Given the description of an element on the screen output the (x, y) to click on. 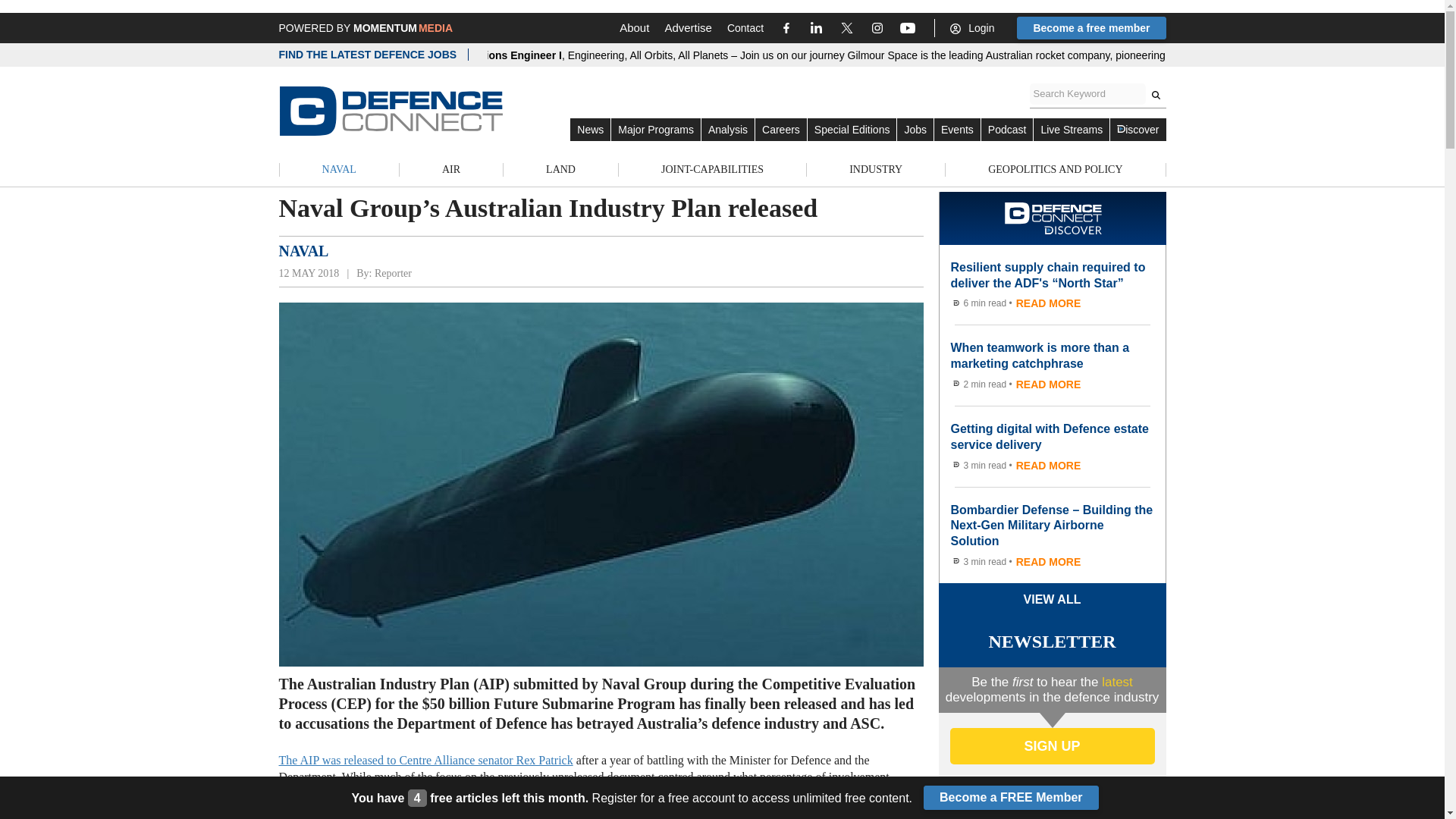
sign up (1051, 746)
Become a FREE Member (1011, 797)
Become a FREE Member (1011, 797)
Become a free member (1091, 27)
